Given the description of an element on the screen output the (x, y) to click on. 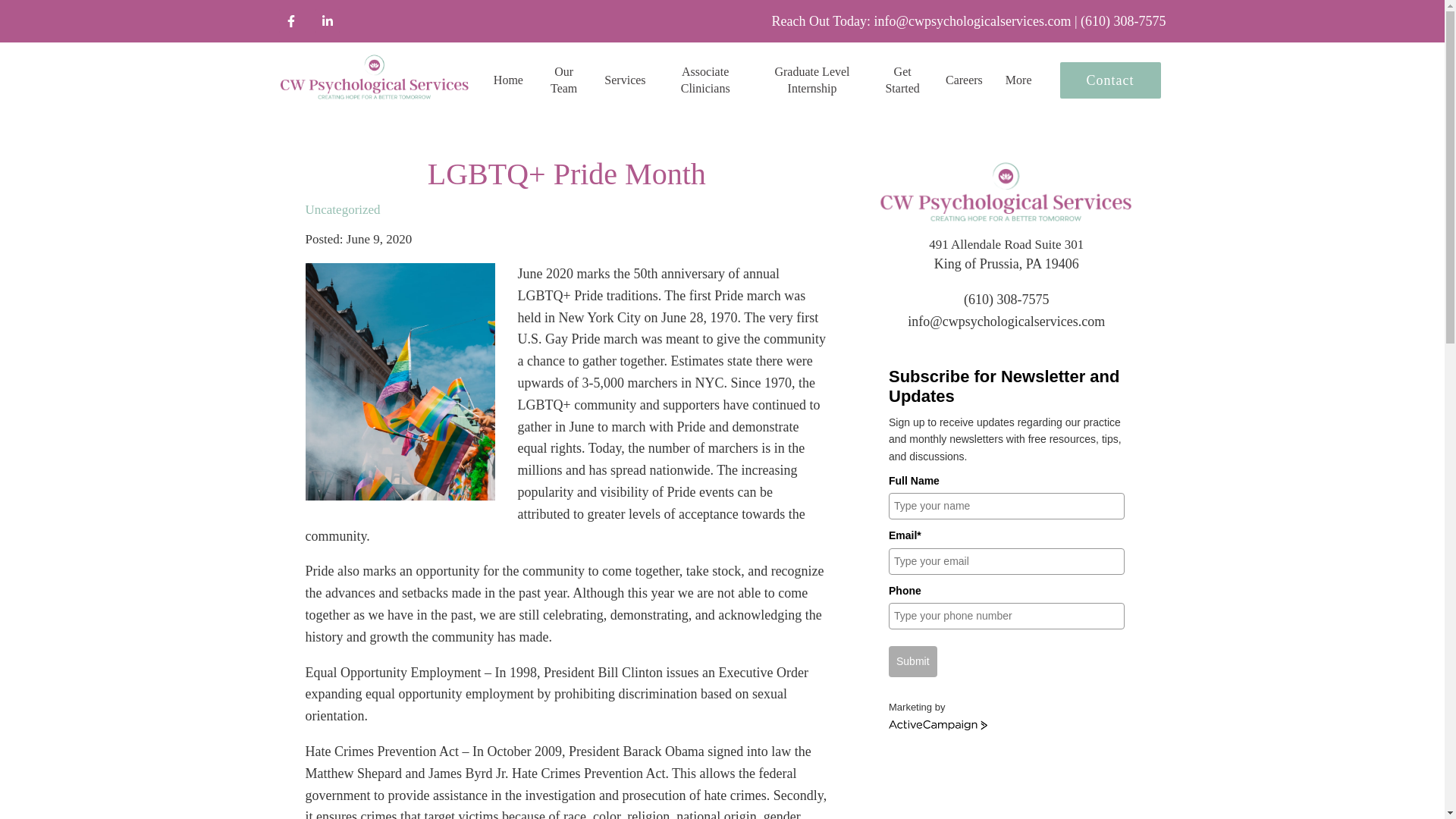
Get Started (902, 80)
Careers (963, 80)
Graduate Level Internship (812, 80)
Our Team (563, 80)
Home (507, 80)
Associate Clinicians (705, 80)
Services (624, 80)
